Given the description of an element on the screen output the (x, y) to click on. 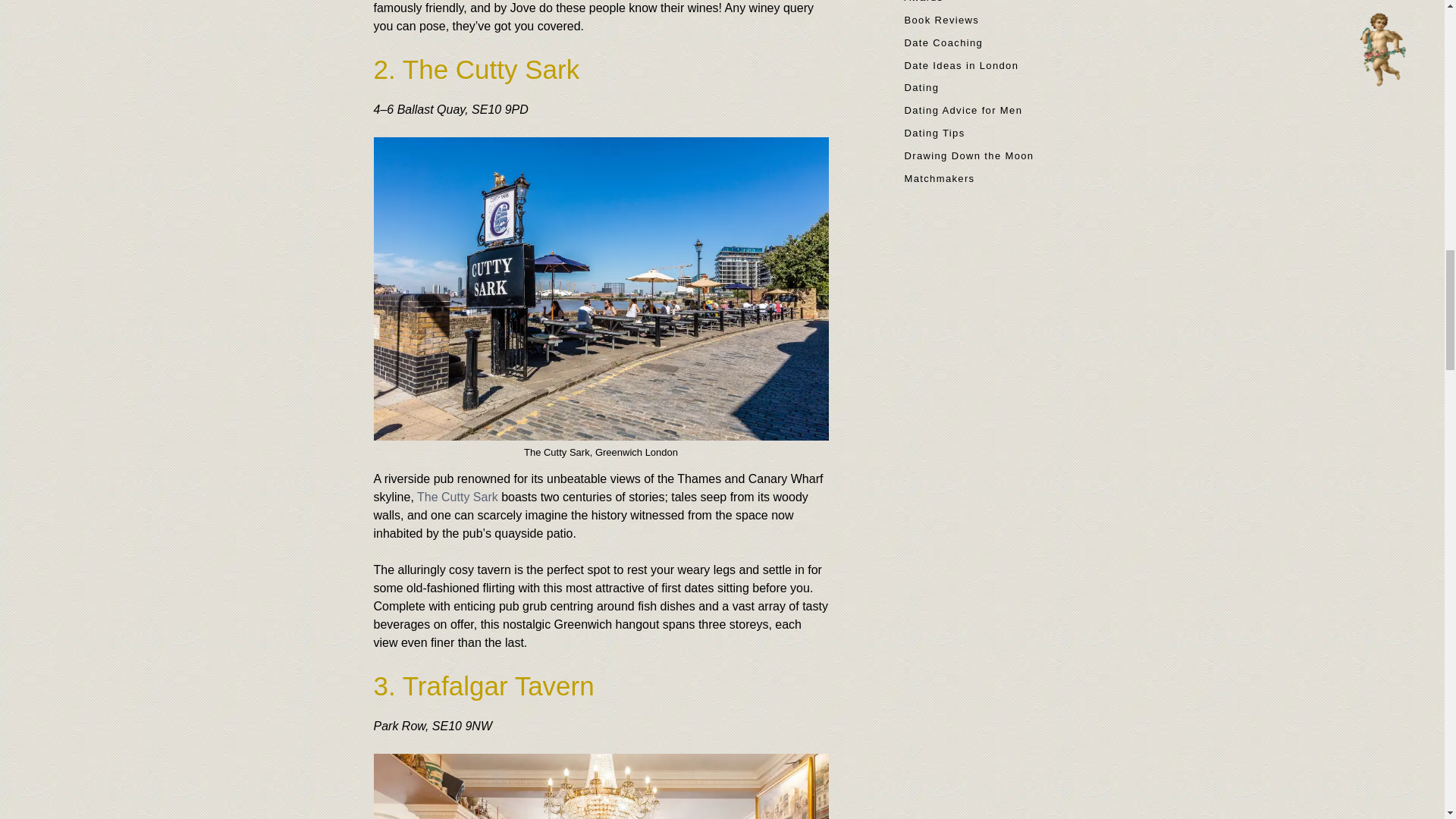
The Cutty Sark (456, 496)
Book Reviews (941, 19)
Date Coaching (943, 42)
Awards (923, 1)
